Given the description of an element on the screen output the (x, y) to click on. 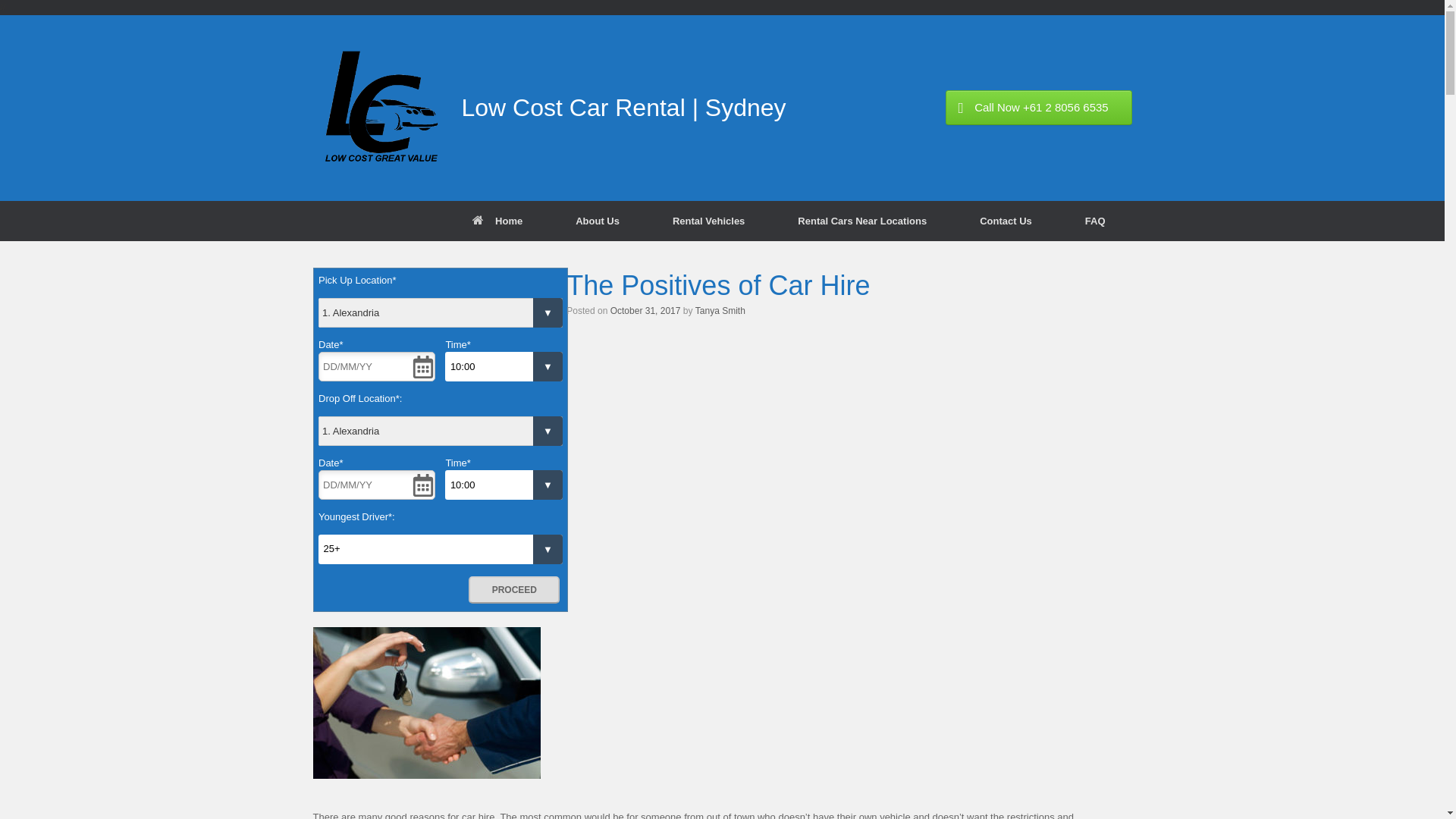
Rental Vehicles Element type: text (708, 220)
Low Cost Car Rental | Sydney Element type: text (548, 107)
Call Now +61 2 8056 6535 Element type: text (1038, 107)
About Us Element type: text (597, 220)
PROCEED Element type: text (513, 589)
Rental Cars Near Locations Element type: text (862, 220)
The Positives of Car Hire Element type: text (717, 285)
Tanya Smith Element type: text (720, 310)
Home Element type: text (497, 220)
October 31, 2017 Element type: text (645, 310)
FAQ Element type: text (1095, 220)
Contact Us Element type: text (1005, 220)
